Given the description of an element on the screen output the (x, y) to click on. 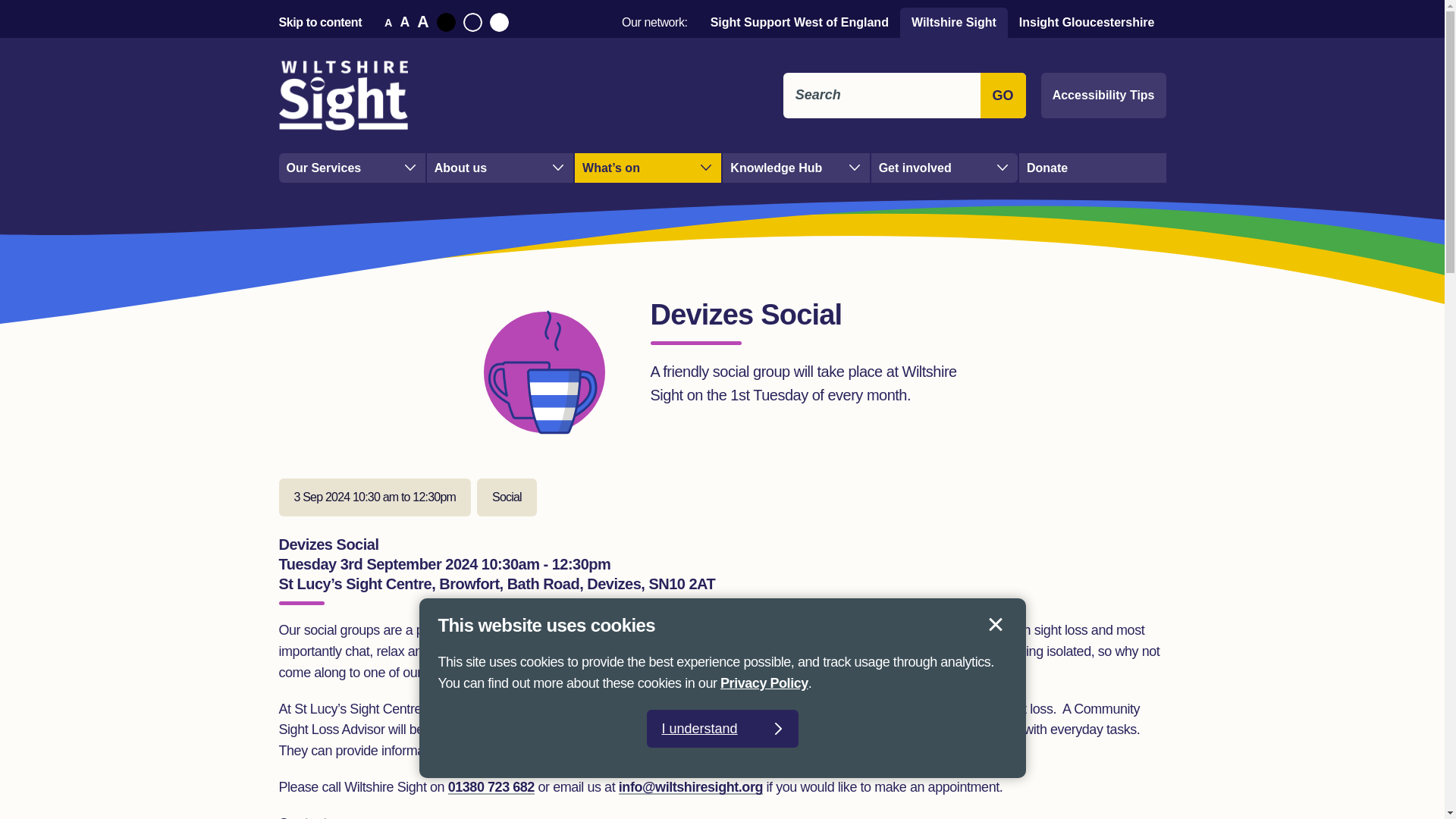
About us (499, 167)
Black contrast (445, 22)
Our Services (352, 167)
GO (1002, 94)
Sight Support West of England (798, 22)
Normal contrast (472, 22)
Insight Gloucestershire (1086, 22)
White contrast (498, 22)
Wiltshire Sight (953, 22)
Skip to content (320, 22)
Accessibility Tips (1103, 94)
